Given the description of an element on the screen output the (x, y) to click on. 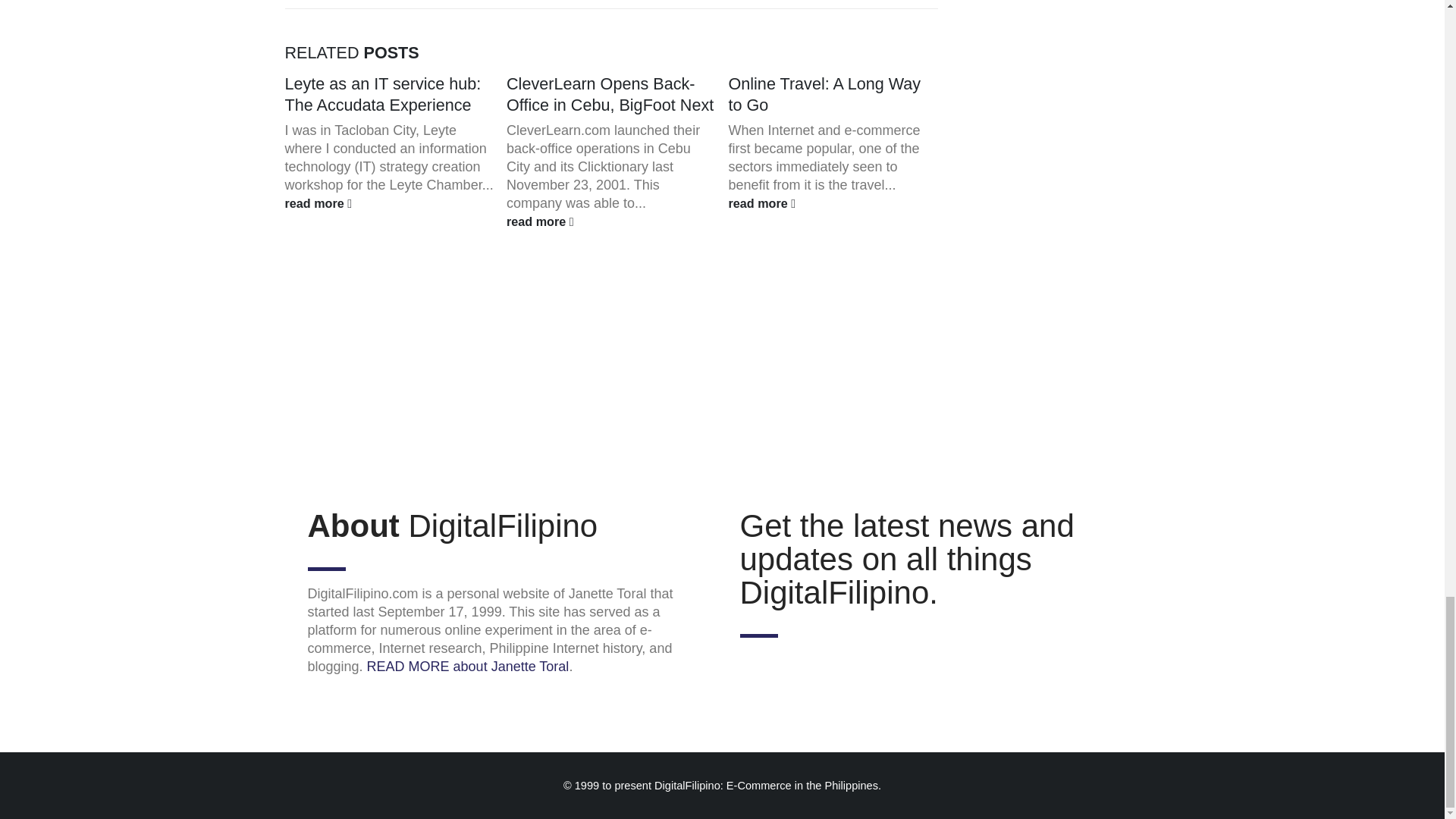
read more (390, 203)
read more (832, 203)
read more (611, 221)
Leyte as an IT service hub: The Accudata Experience (383, 94)
Online Travel: A Long Way to Go (824, 94)
CleverLearn Opens Back-Office in Cebu, BigFoot Next (609, 94)
